Given the description of an element on the screen output the (x, y) to click on. 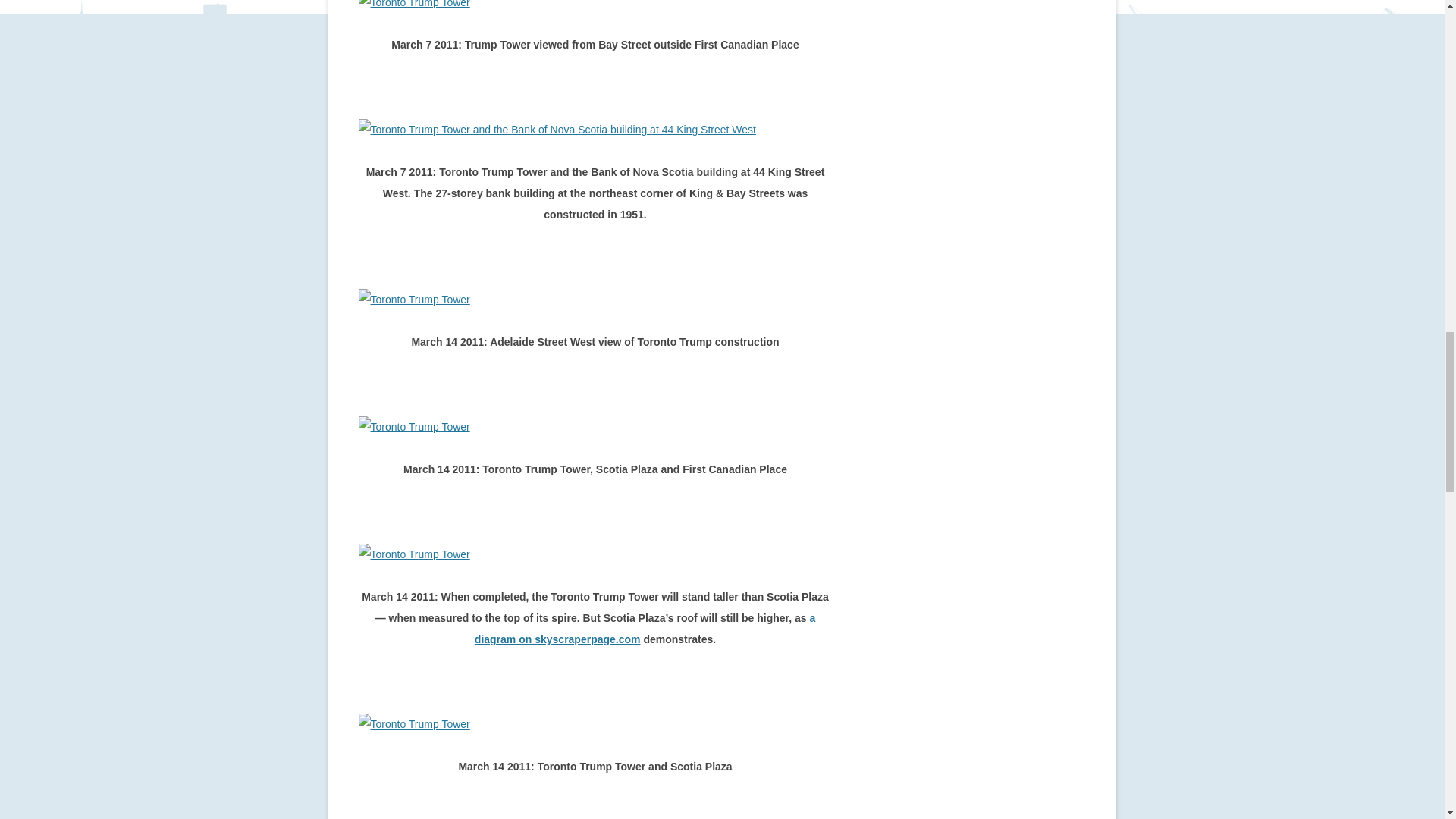
a diagram on skyscraperpage.com (644, 628)
